Given the description of an element on the screen output the (x, y) to click on. 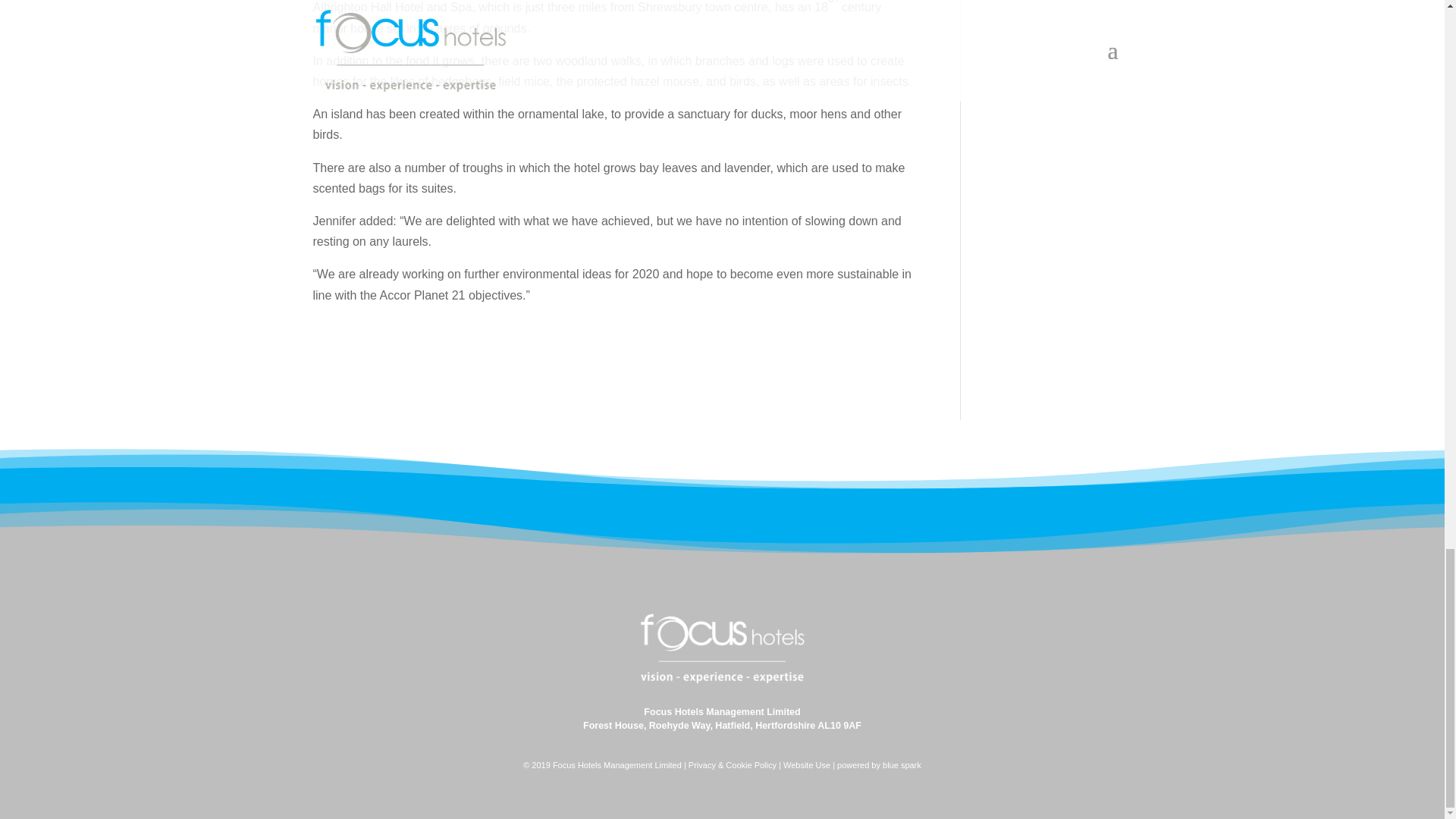
blue spark (901, 764)
Website Use (806, 764)
